Given the description of an element on the screen output the (x, y) to click on. 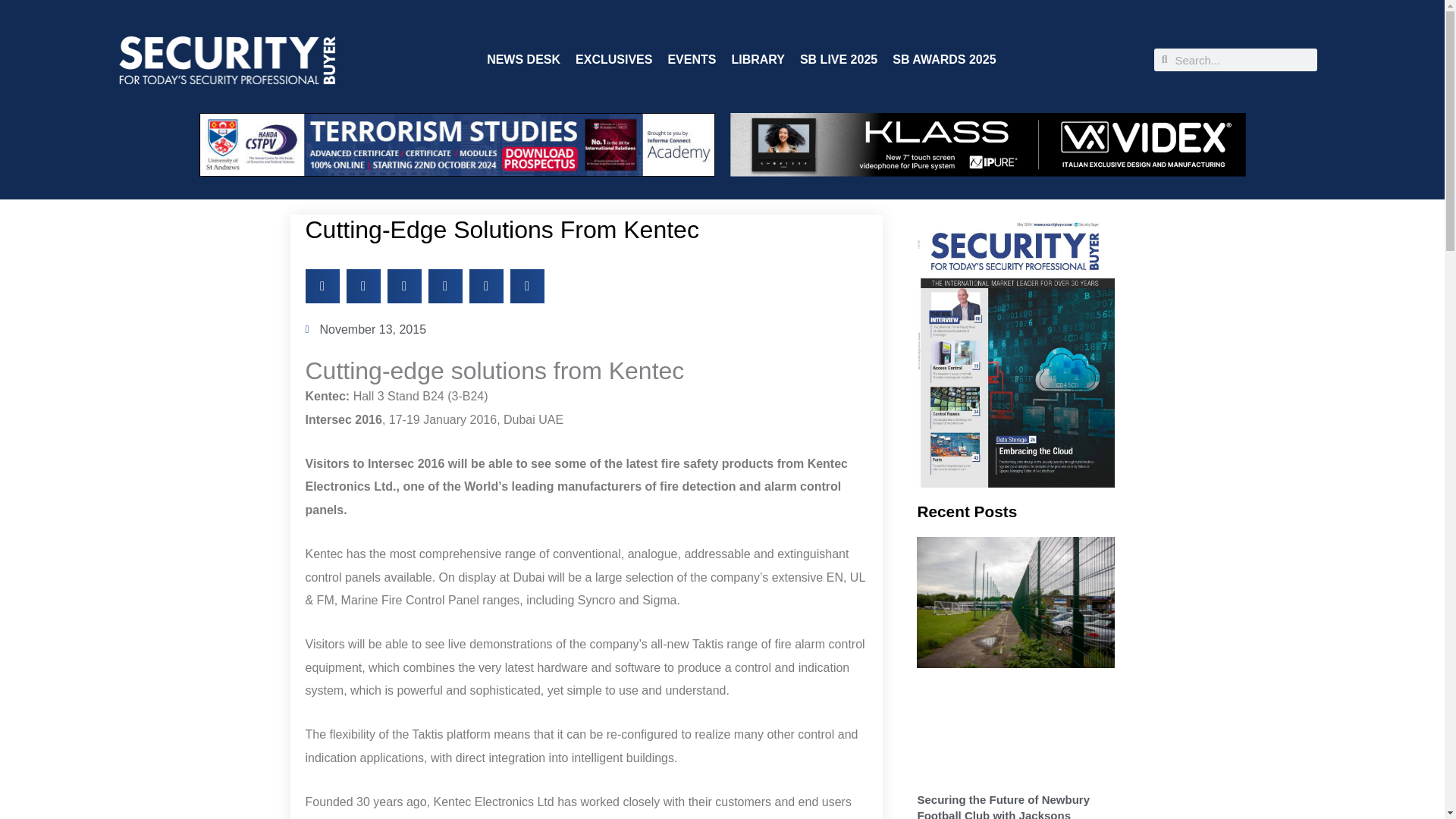
SB AWARDS 2025 (943, 59)
SB LIVE 2025 (838, 59)
EXCLUSIVES (613, 59)
EVENTS (691, 59)
LIBRARY (757, 59)
NEWS DESK (523, 59)
